Given the description of an element on the screen output the (x, y) to click on. 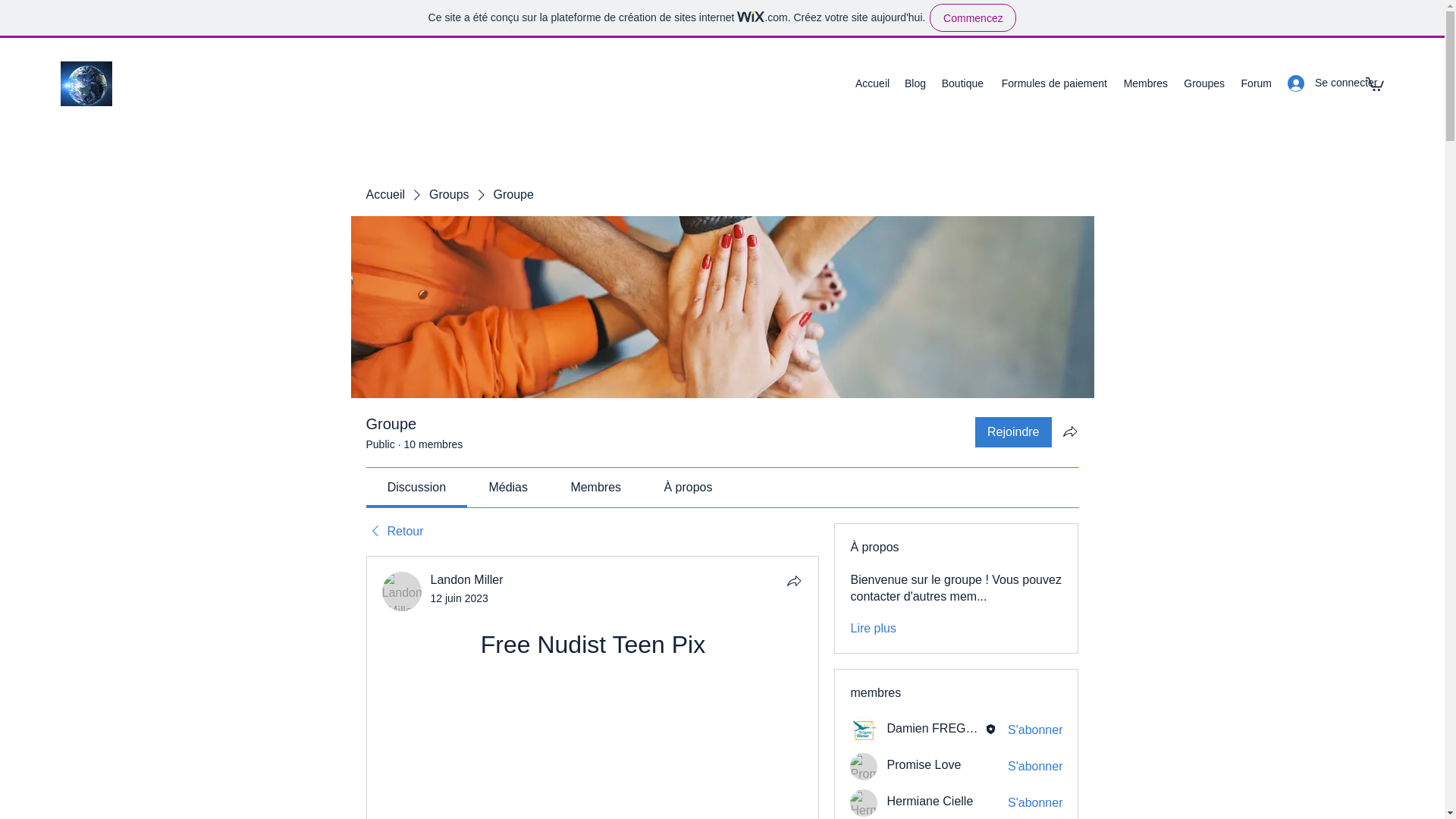
Promise Love (863, 766)
Blog (914, 83)
Accueil (384, 194)
Membres (1144, 83)
12 juin 2023 (458, 598)
Landon Miller (401, 590)
Groupes (1202, 83)
Promise Love (923, 764)
Hermiane Cielle (929, 800)
Se connecter (1317, 82)
Formules de paiement (1053, 83)
Forum (1255, 83)
Groups (448, 194)
Rejoindre (1013, 431)
Damien FREGATE (937, 727)
